Given the description of an element on the screen output the (x, y) to click on. 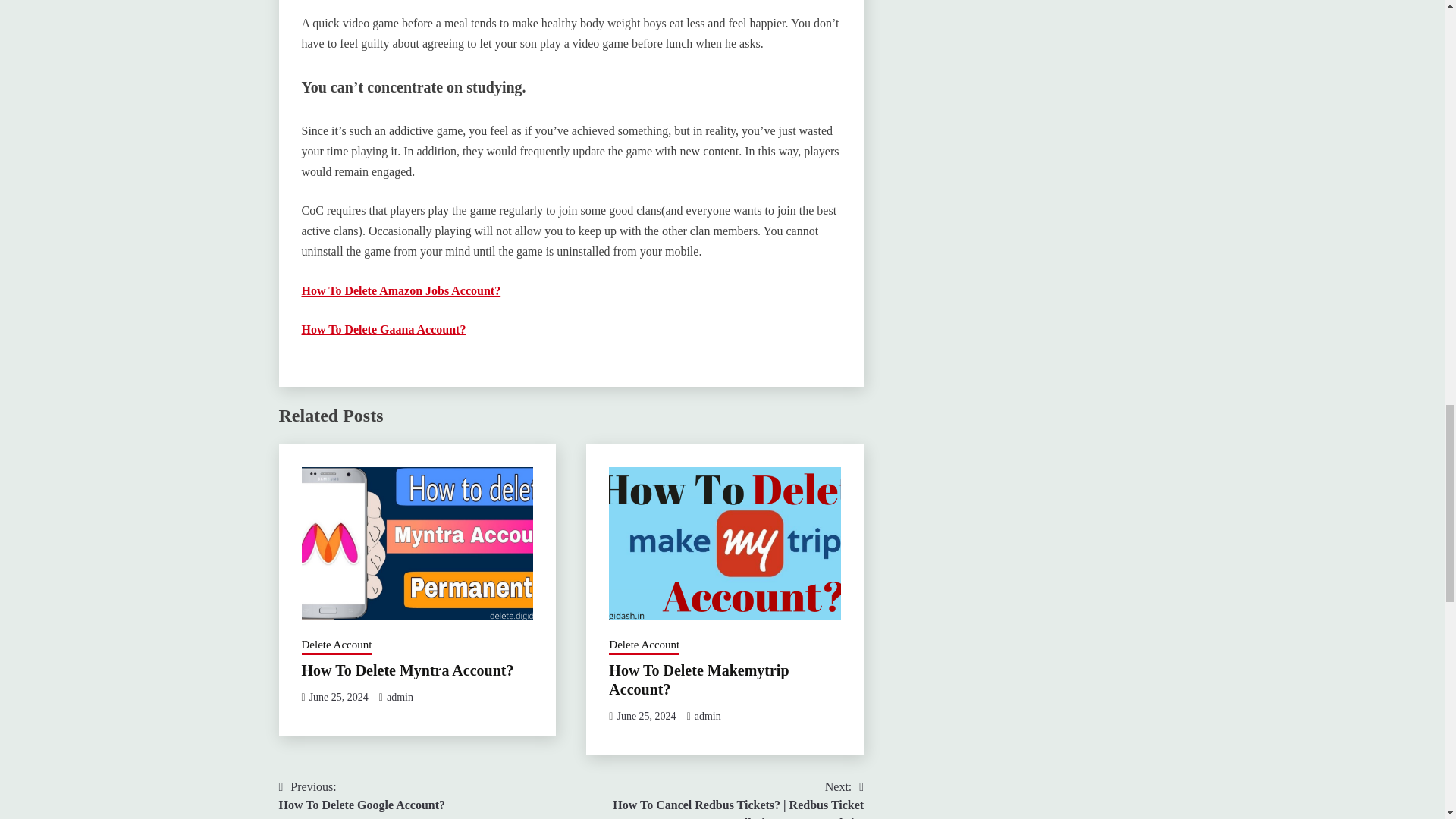
How To Delete Gaana Account? (362, 796)
June 25, 2024 (383, 328)
admin (645, 715)
admin (707, 715)
Delete Account (400, 696)
How To Delete Myntra Account? (336, 646)
How To Delete Amazon Jobs Account? (407, 669)
Delete Account (400, 290)
June 25, 2024 (643, 646)
